Given the description of an element on the screen output the (x, y) to click on. 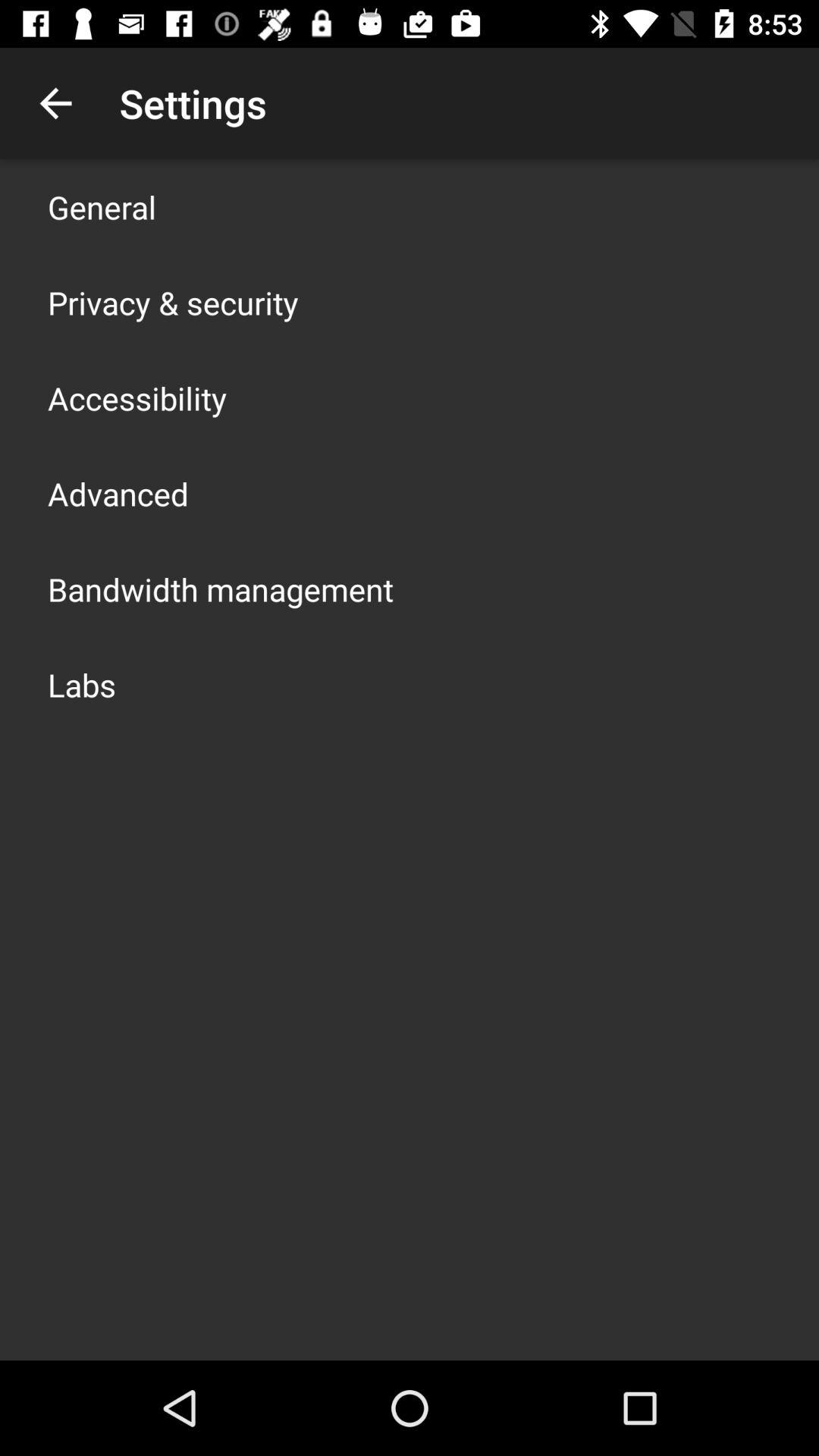
choose icon above the advanced (136, 397)
